Given the description of an element on the screen output the (x, y) to click on. 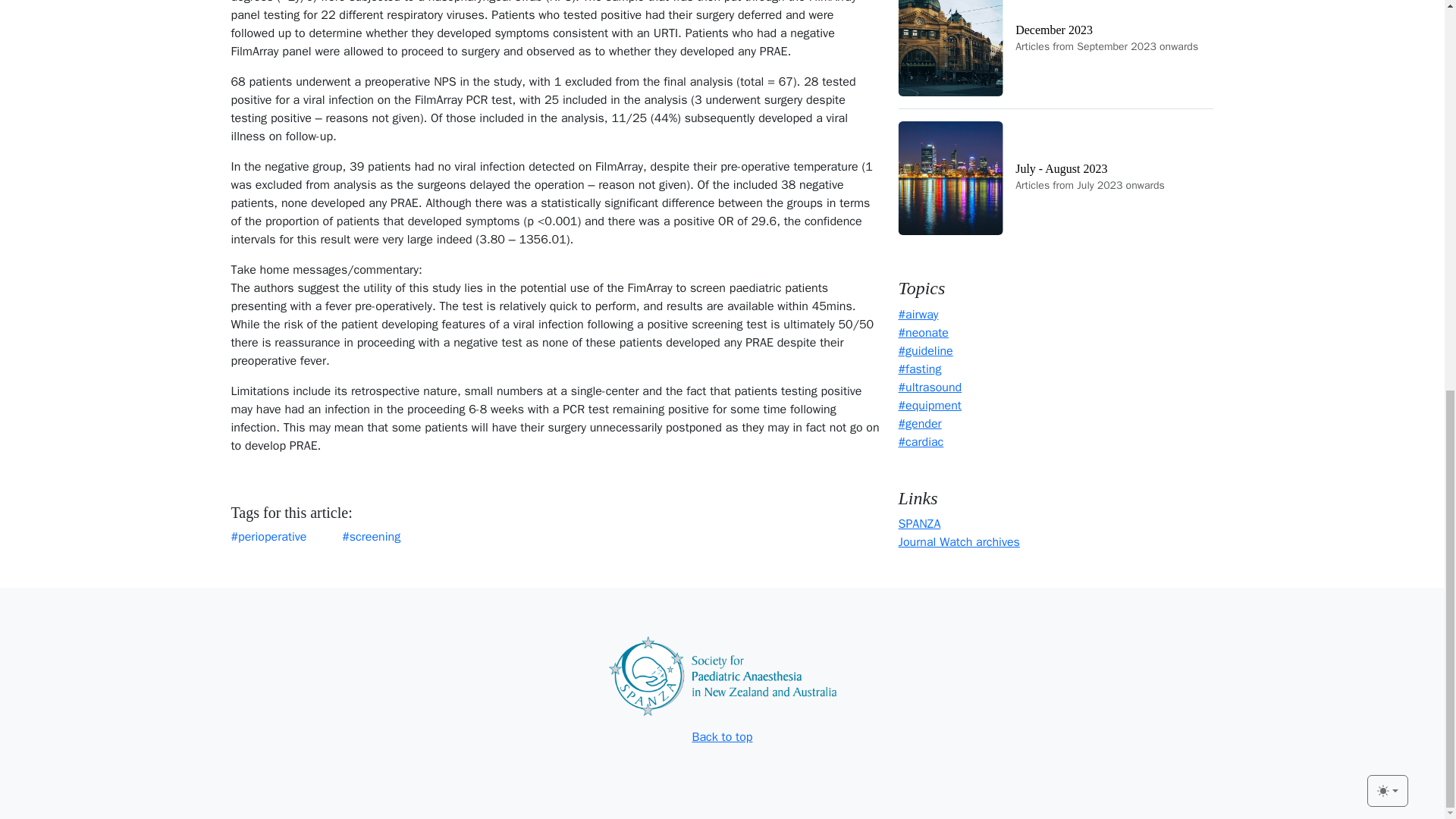
SPANZA (1055, 54)
Toggle theme (1055, 177)
Back to top (919, 523)
Journal Watch archives (1387, 47)
